Given the description of an element on the screen output the (x, y) to click on. 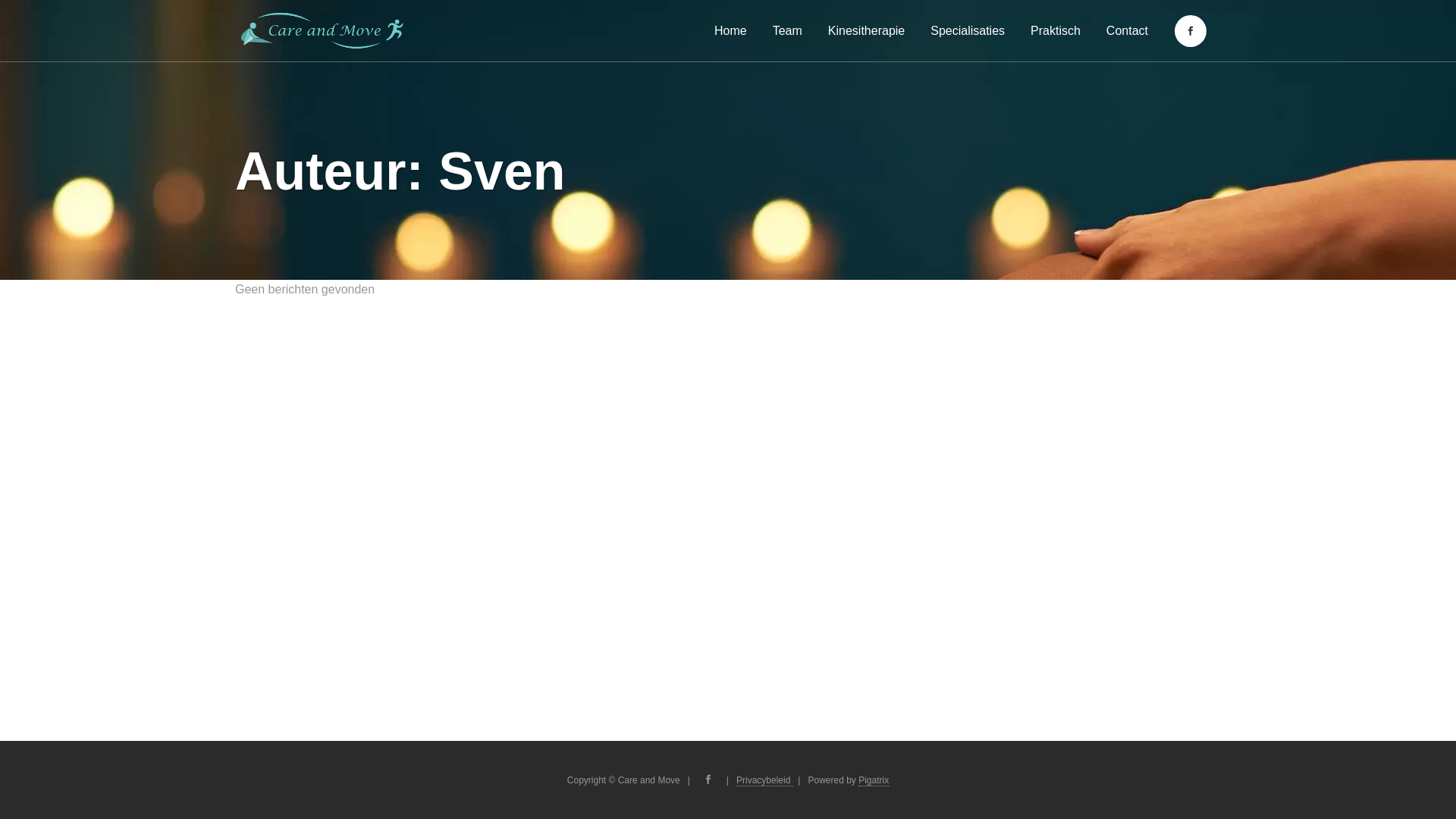
Contact Element type: text (1127, 30)
Kinesitherapie Element type: text (865, 30)
Specialisaties Element type: text (967, 30)
Team Element type: text (787, 30)
Privacybeleid Element type: text (764, 780)
Praktisch Element type: text (1055, 30)
Pigatrix Element type: text (873, 780)
Home Element type: text (730, 30)
